Given the description of an element on the screen output the (x, y) to click on. 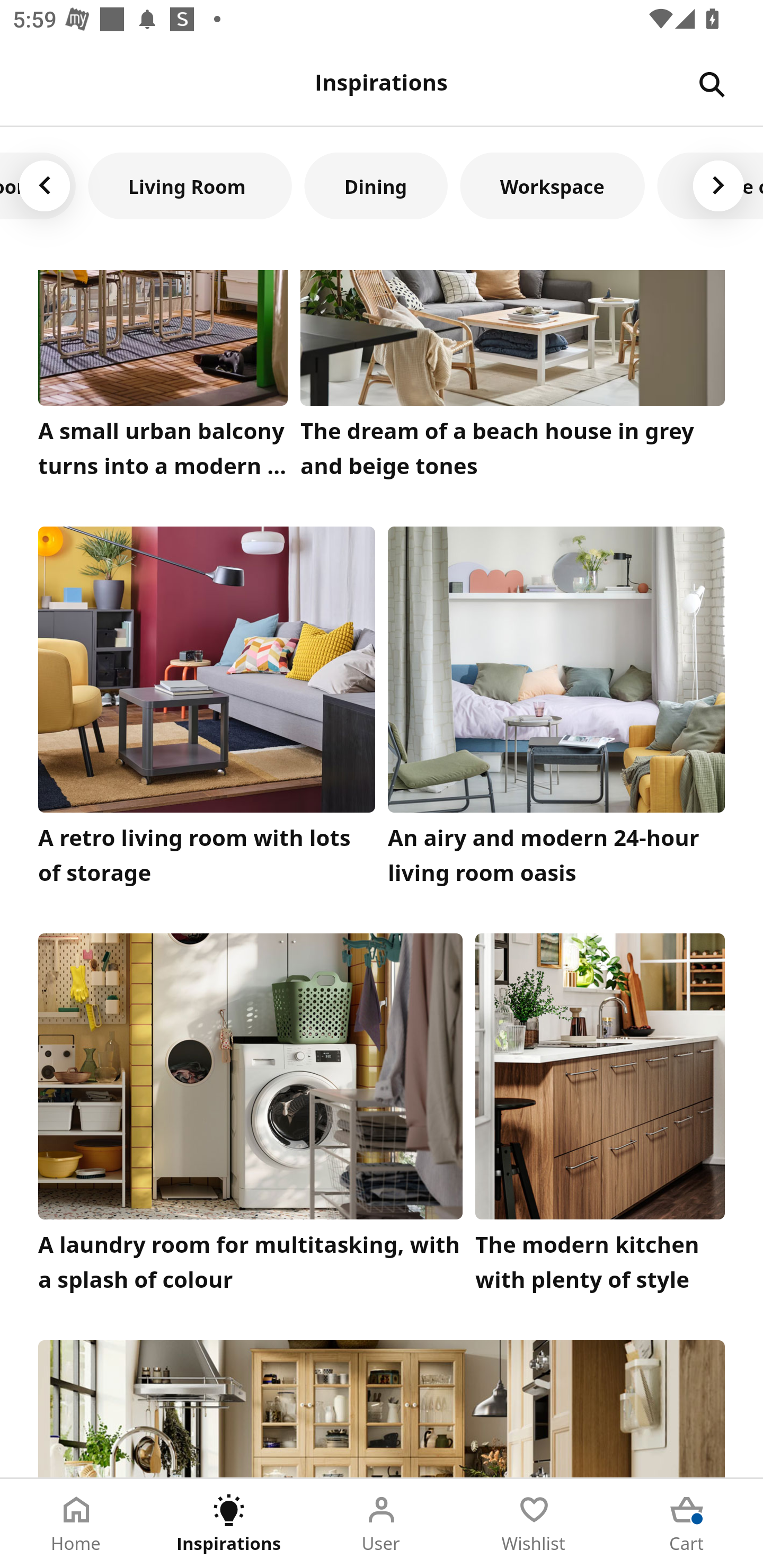
Living Room  (190, 185)
Dining (375, 185)
Workspace (552, 185)
The dream of a beach house in grey and beige tones (512, 378)
A retro living room with lots of storage (206, 710)
An airy and modern 24-hour living room oasis (555, 710)
The modern kitchen with plenty of style (599, 1116)
Home
Tab 1 of 5 (76, 1522)
Inspirations
Tab 2 of 5 (228, 1522)
User
Tab 3 of 5 (381, 1522)
Wishlist
Tab 4 of 5 (533, 1522)
Cart
Tab 5 of 5 (686, 1522)
